Given the description of an element on the screen output the (x, y) to click on. 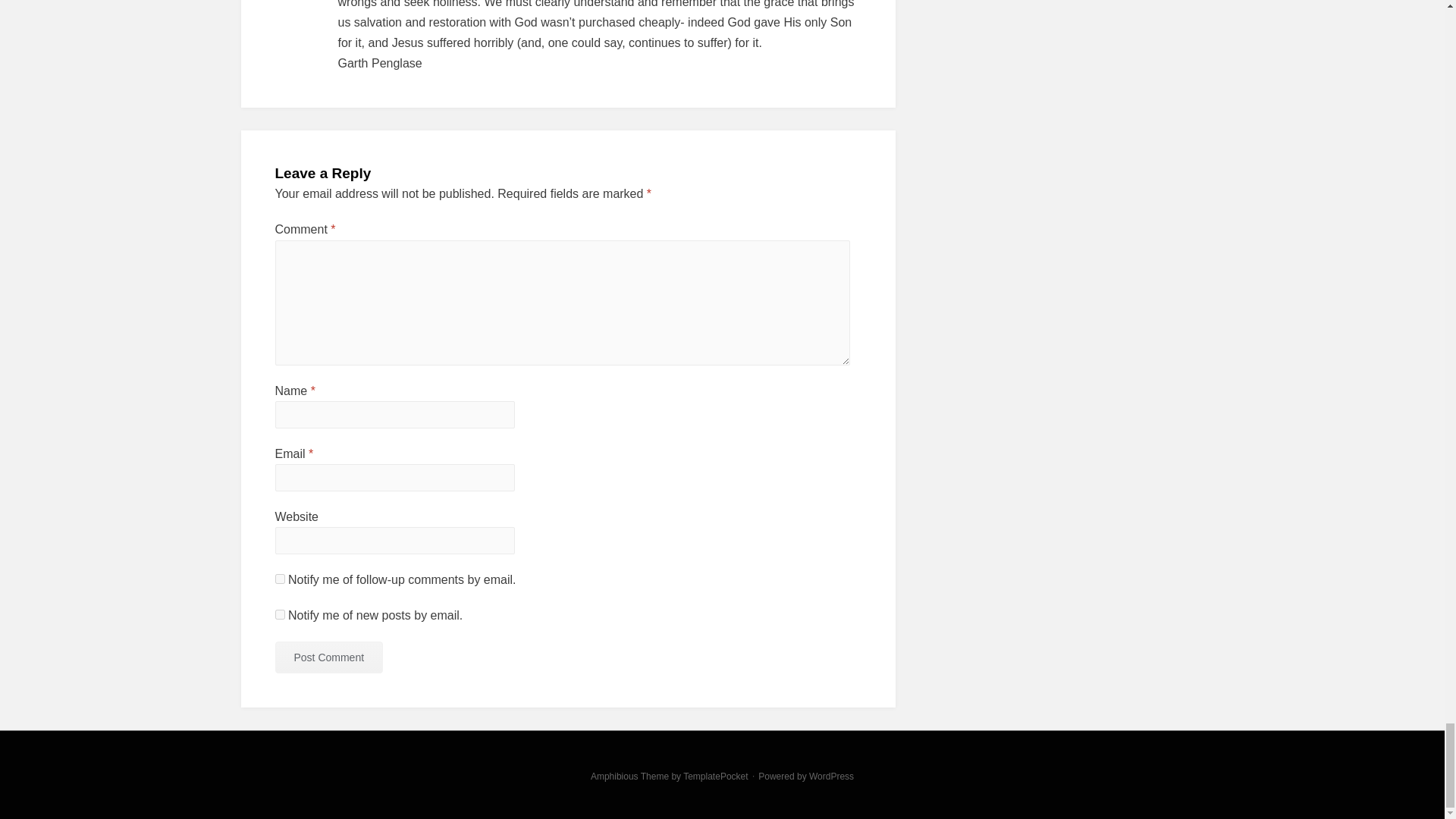
Post Comment (328, 657)
subscribe (279, 614)
subscribe (279, 578)
